Given the description of an element on the screen output the (x, y) to click on. 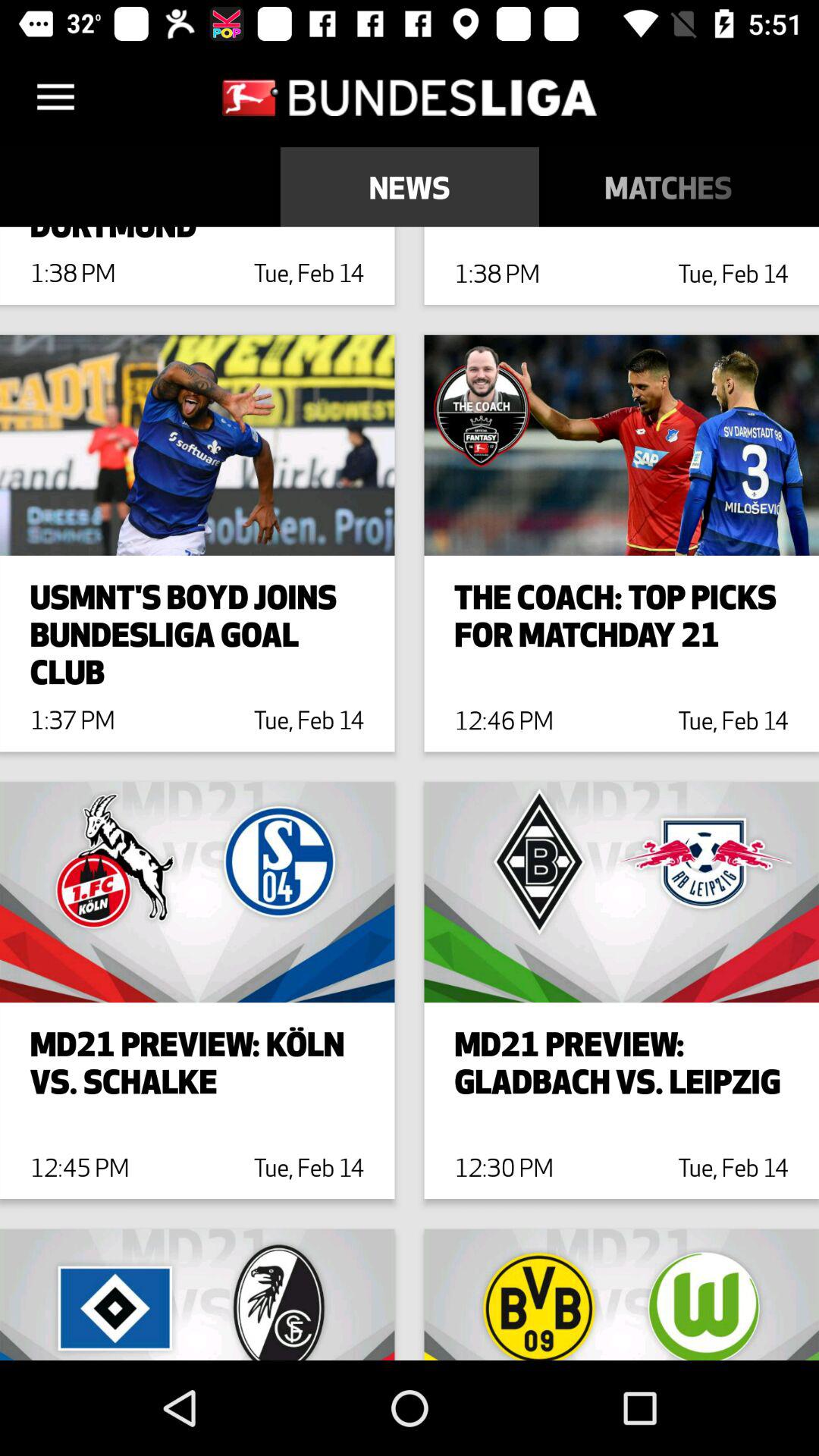
turn off icon next to table (668, 186)
